Given the description of an element on the screen output the (x, y) to click on. 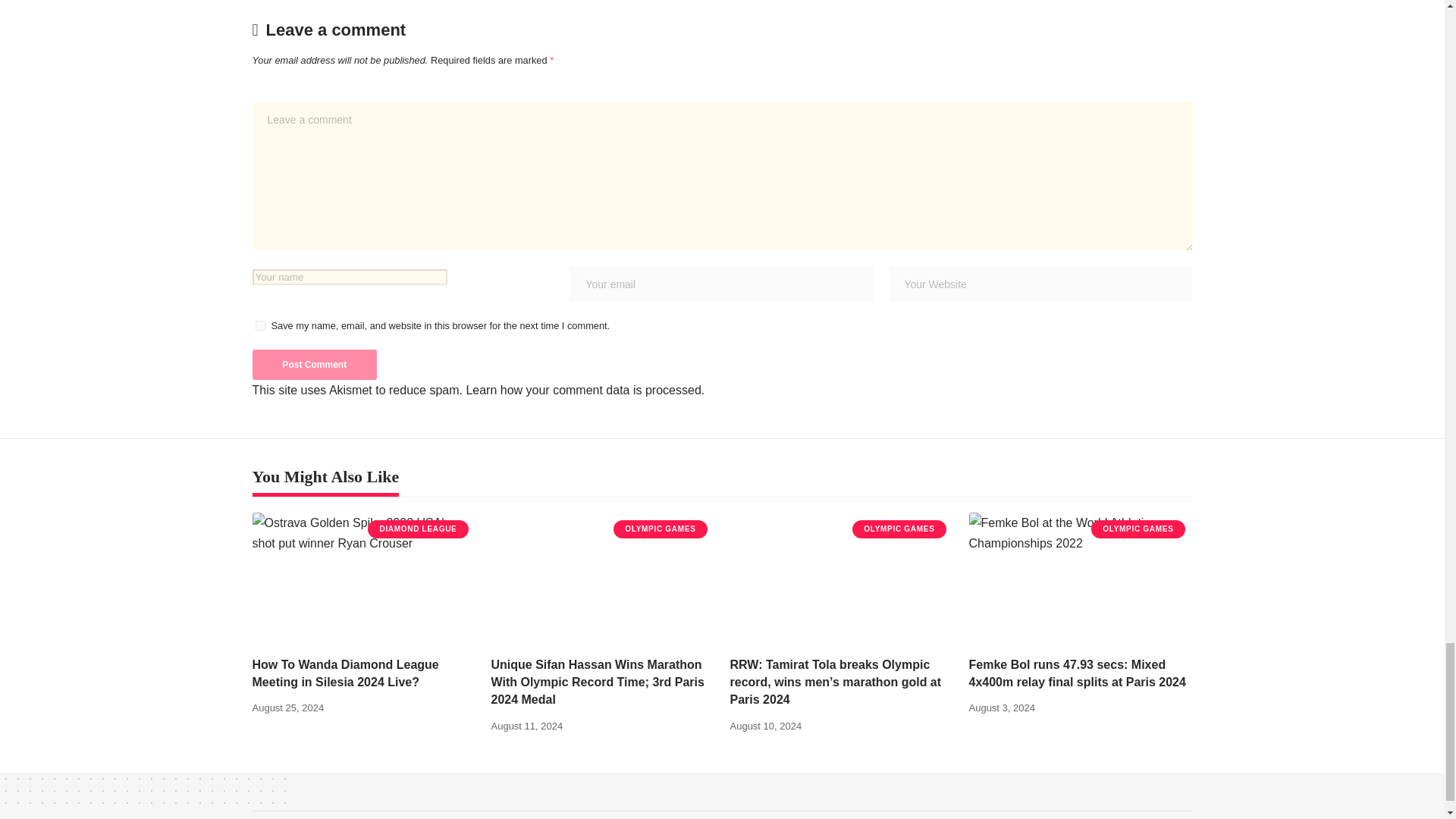
How To Wanda Diamond League Meeting in Silesia 2024 Live? (363, 579)
yes (259, 325)
Post Comment (314, 364)
